Given the description of an element on the screen output the (x, y) to click on. 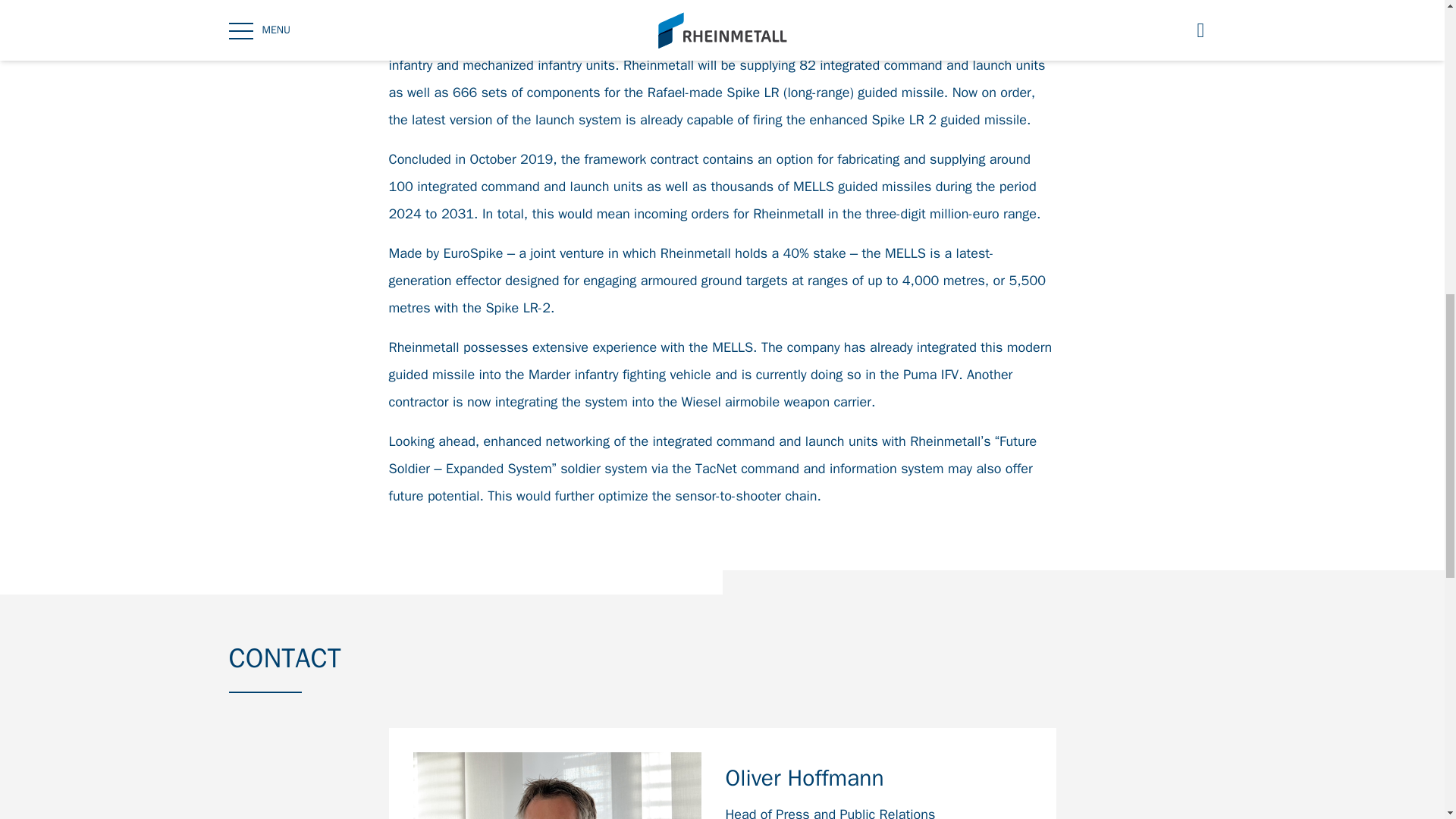
Oliver Hoffmann (877, 782)
